Given the description of an element on the screen output the (x, y) to click on. 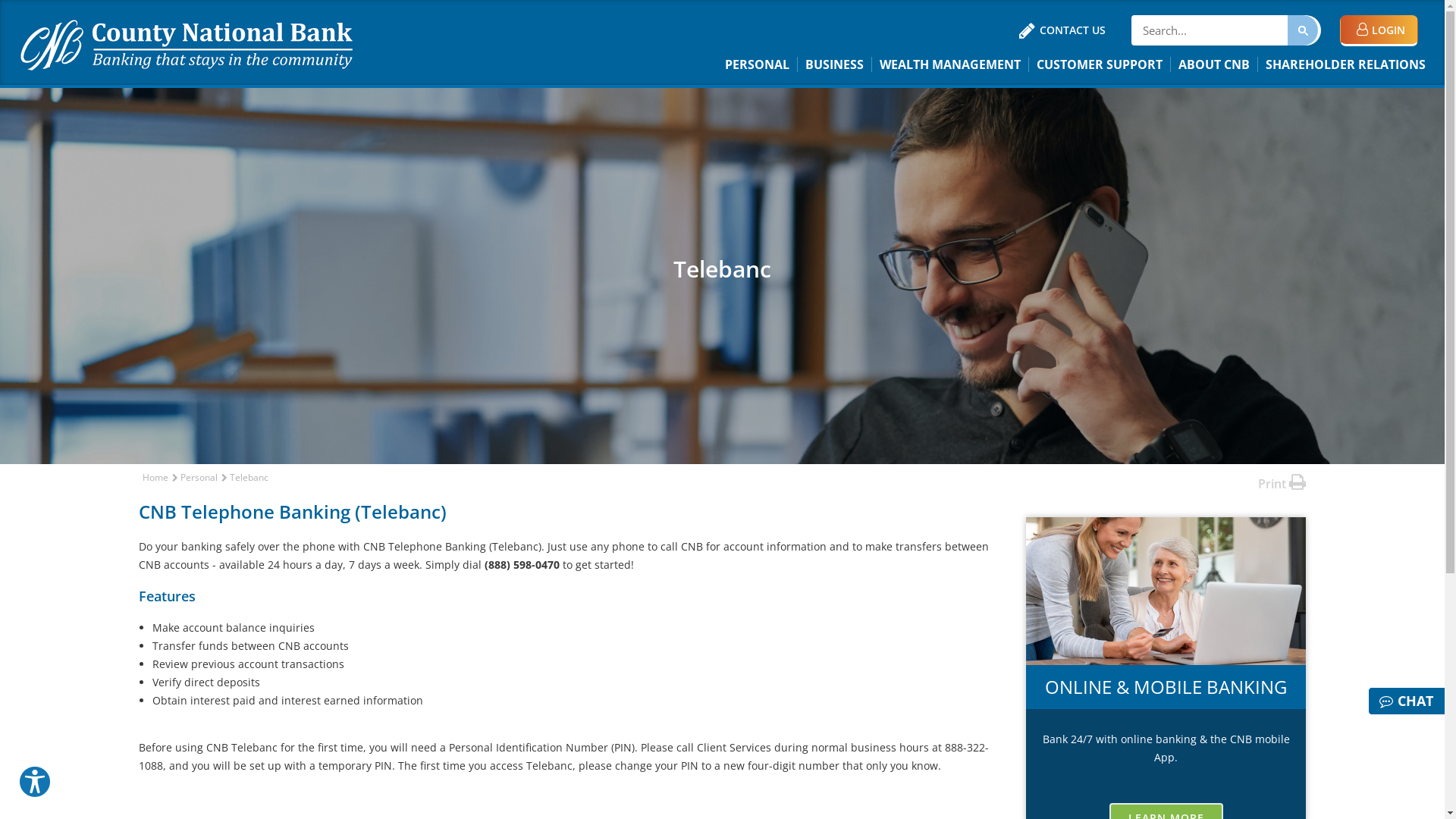
 CONTACT US Element type: text (1062, 29)
ABOUT CNB Element type: text (1214, 64)
SHAREHOLDER RELATIONS Element type: text (1345, 64)
Telebanc Element type: text (248, 476)
PERSONAL Element type: text (757, 64)
Print Element type: text (1281, 482)
Personal Element type: text (198, 476)
CUSTOMER SUPPORT Element type: text (1099, 64)
Home Element type: text (155, 476)
County National Bank Element type: hover (186, 43)
LOGIN Element type: text (1378, 30)
BUSINESS Element type: text (834, 64)
WEALTH MANAGEMENT Element type: text (950, 64)
Search Element type: hover (1302, 30)
